Given the description of an element on the screen output the (x, y) to click on. 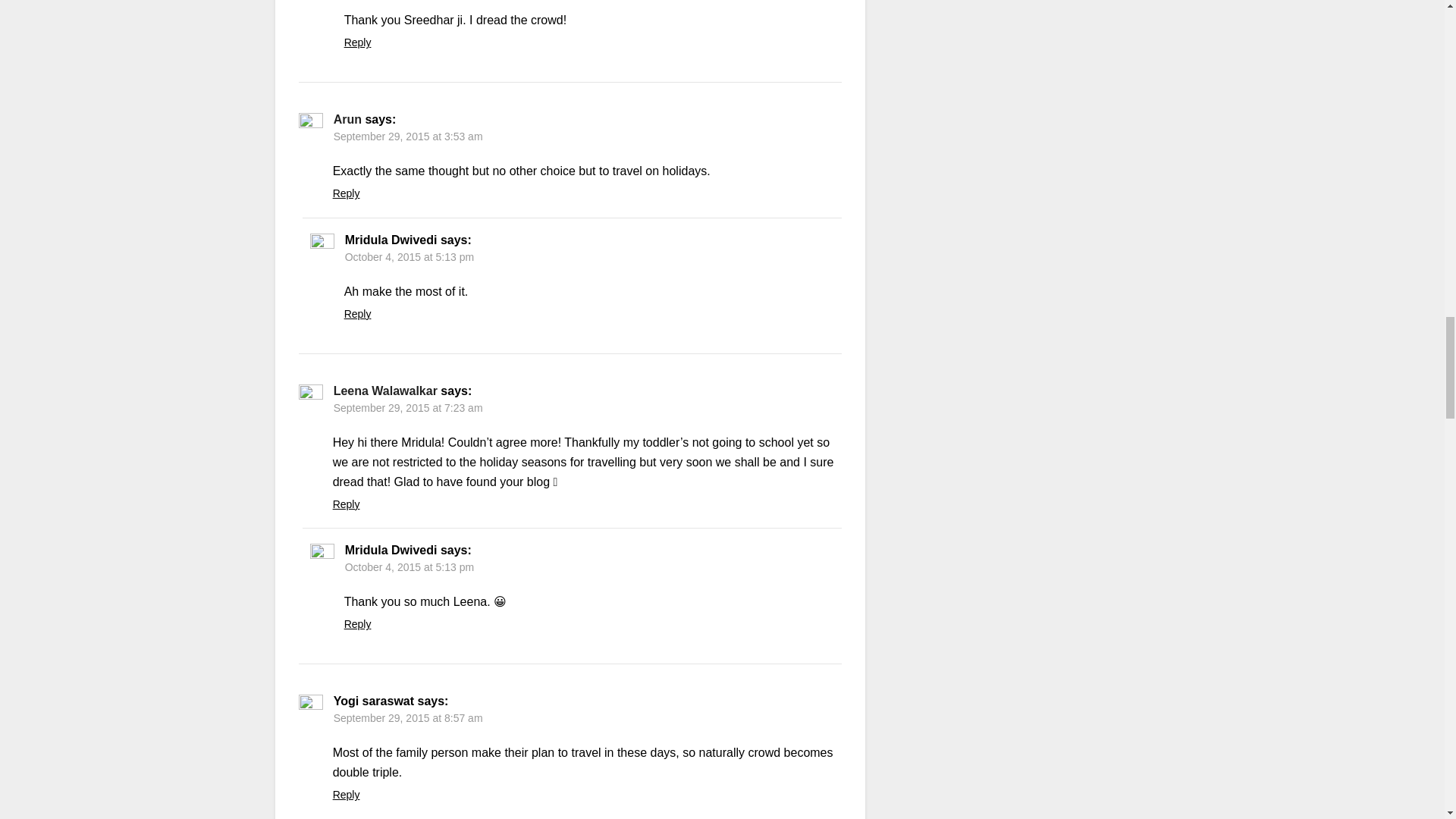
Reply (346, 193)
Reply (346, 503)
October 4, 2015 at 5:13 pm (409, 256)
October 4, 2015 at 5:13 pm (409, 567)
September 29, 2015 at 7:23 am (408, 408)
Reply (357, 42)
September 29, 2015 at 3:53 am (408, 136)
Leena Walawalkar (385, 390)
Arun (347, 119)
Reply (357, 313)
